Given the description of an element on the screen output the (x, y) to click on. 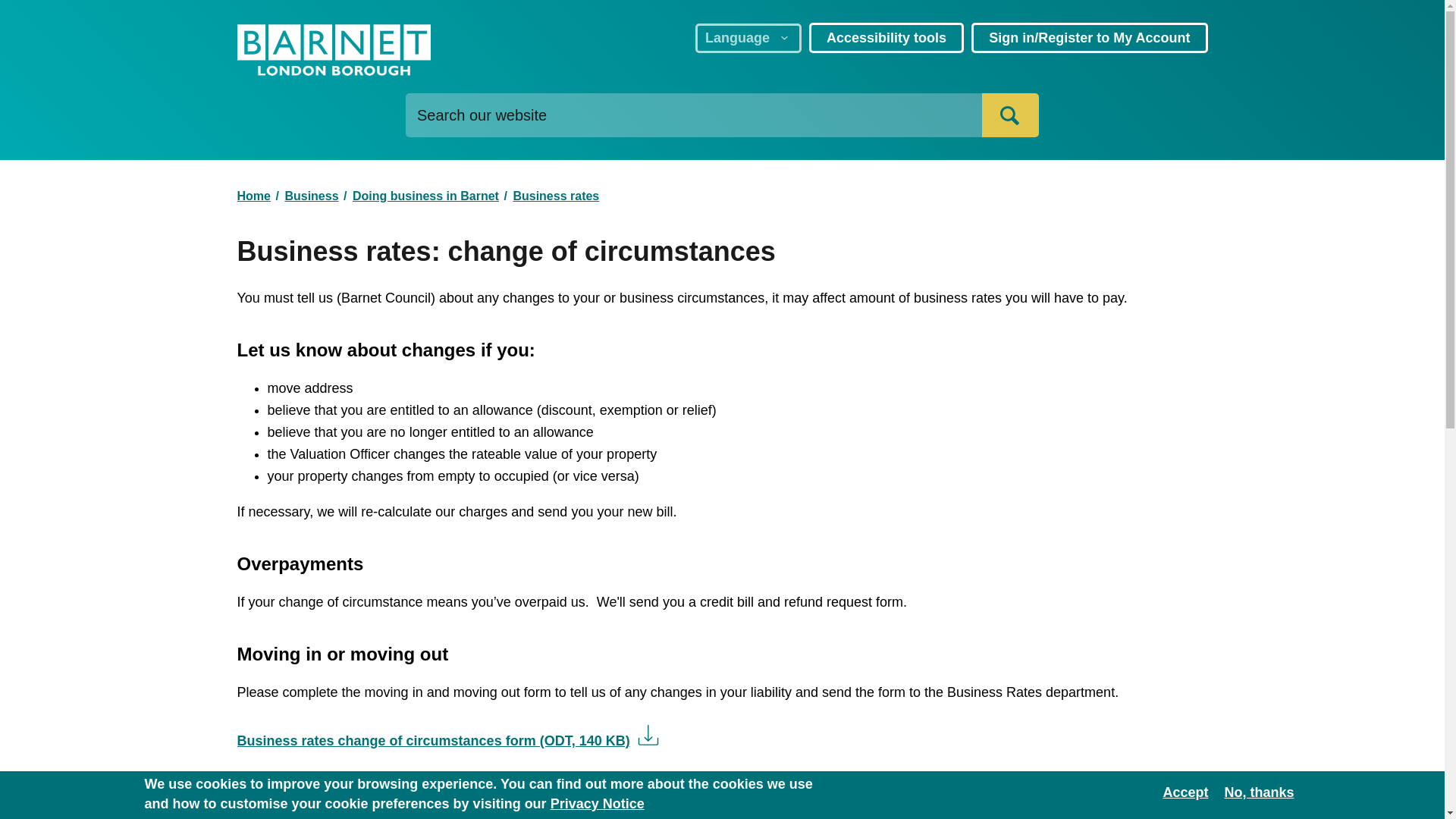
Home (252, 195)
Search (1010, 115)
Accessibility tools (886, 37)
Language Selector (748, 38)
No, thanks (1258, 792)
London Borough of Barnet homepage (332, 51)
Doing business in Barnet (425, 195)
Privacy Notice (597, 804)
Business rates (555, 195)
Search (1010, 115)
Accept (1185, 792)
Business (310, 195)
